Given the description of an element on the screen output the (x, y) to click on. 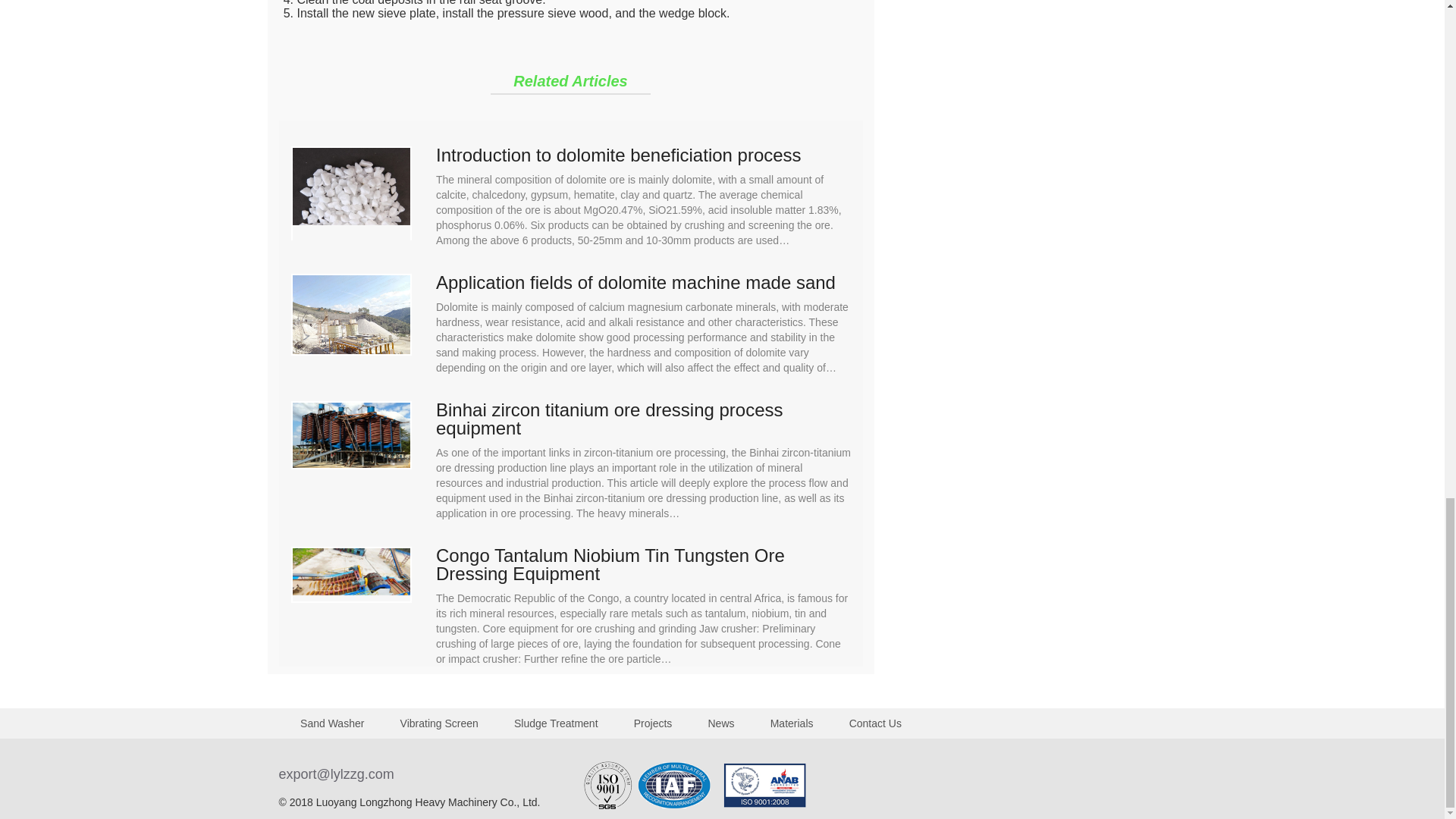
Binhai zircon titanium ore dressing process equipment (643, 419)
Application fields of dolomite machine made sand (643, 282)
Congo Tantalum Niobium Tin Tungsten Ore Dressing Equipment (643, 565)
Introduction to dolomite beneficiation process (643, 155)
